Given the description of an element on the screen output the (x, y) to click on. 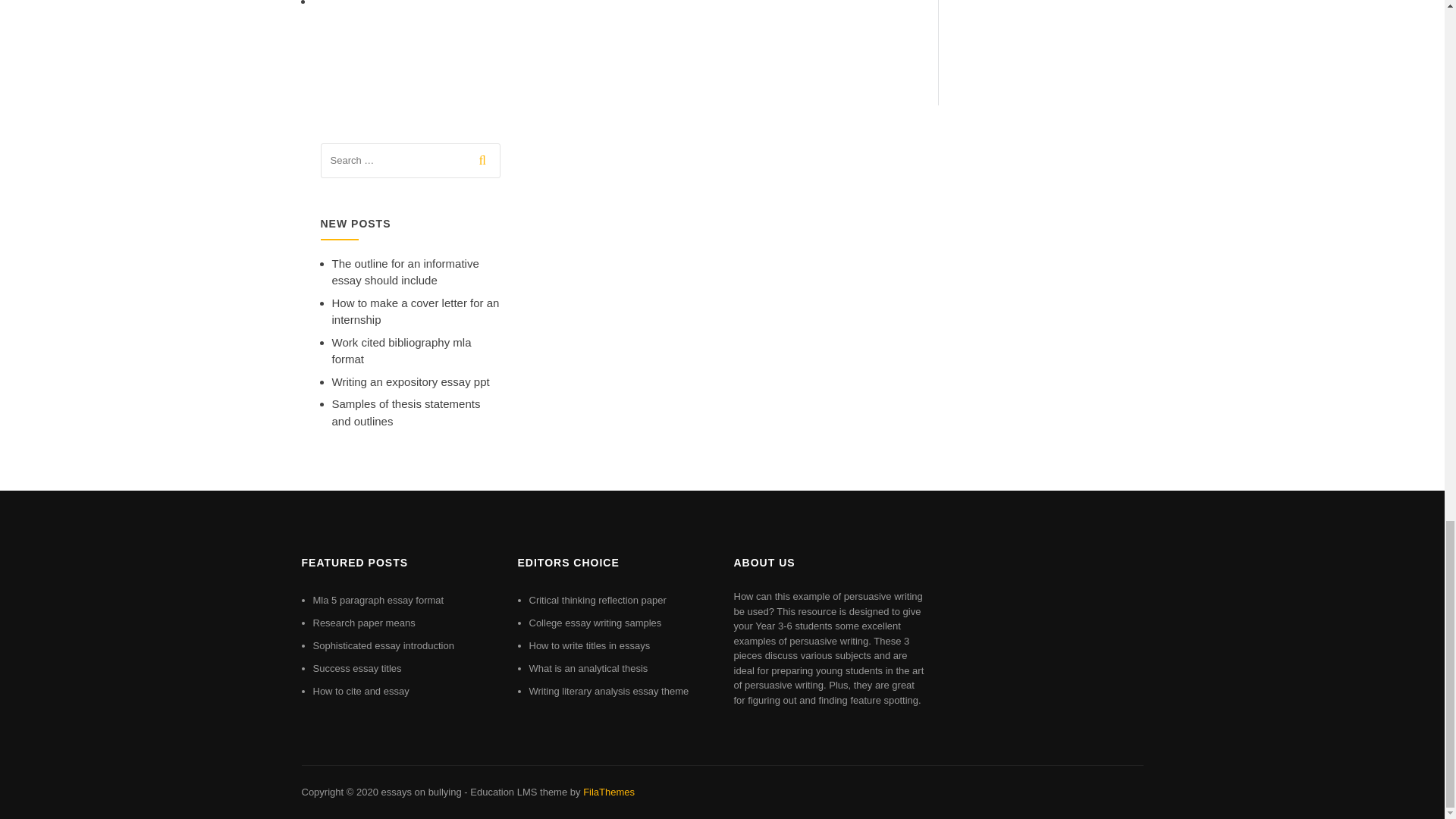
How to cite and essay (361, 690)
Writing an expository essay ppt (410, 381)
Research paper means (363, 622)
The outline for an informative essay should include (405, 272)
Samples of thesis statements and outlines (405, 412)
essays on bullying (420, 791)
Critical thinking reflection paper (597, 600)
How to write titles in essays (589, 645)
Sophisticated essay introduction (382, 645)
Work cited bibliography mla format (401, 350)
Writing literary analysis essay theme (608, 690)
Success essay titles (357, 668)
essays on bullying (420, 791)
What is an analytical thesis (588, 668)
How to make a cover letter for an internship (415, 311)
